Given the description of an element on the screen output the (x, y) to click on. 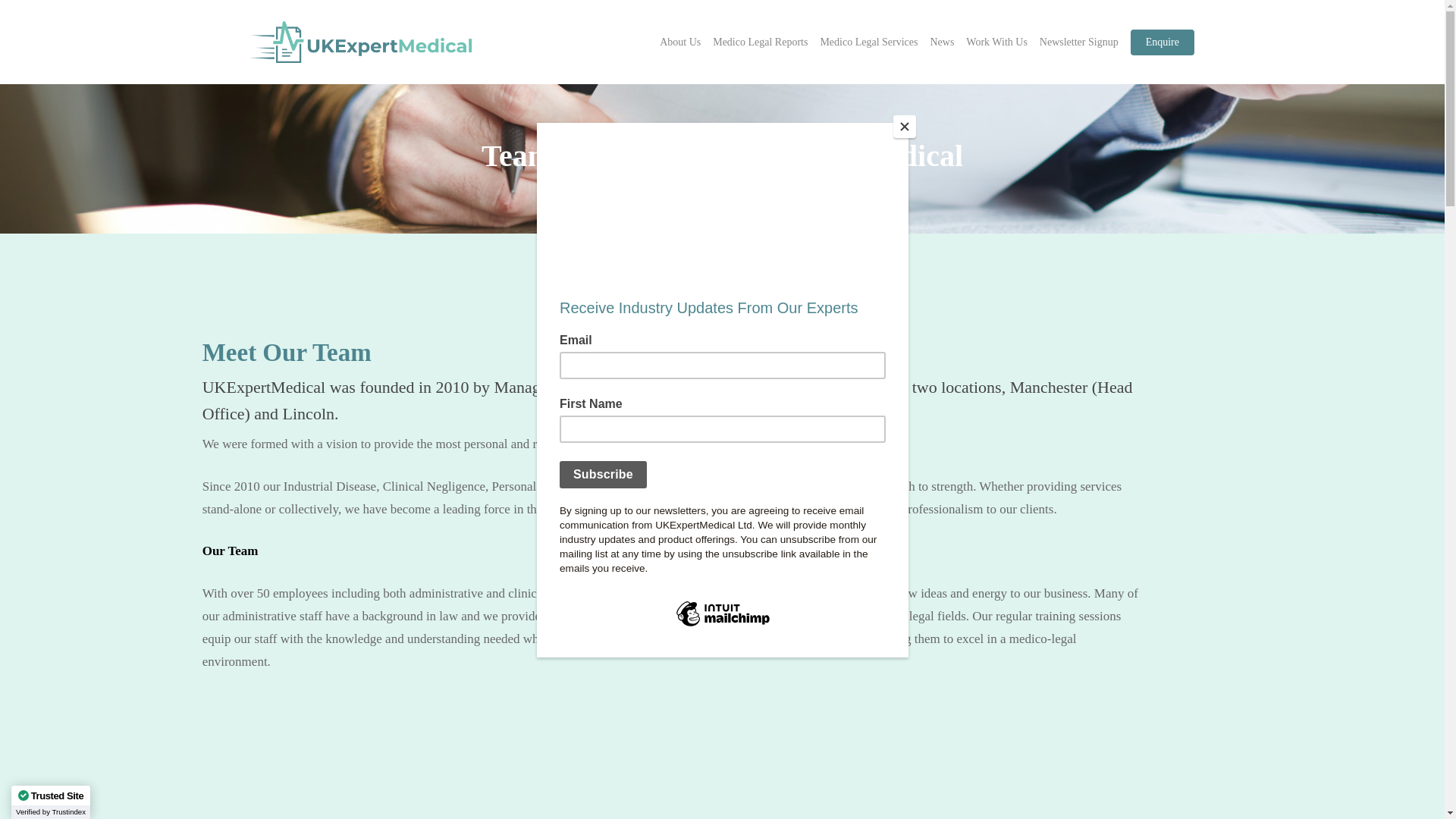
Medico Legal Reports (760, 42)
Medico Legal Services (868, 42)
News (941, 42)
About Us (679, 42)
